Given the description of an element on the screen output the (x, y) to click on. 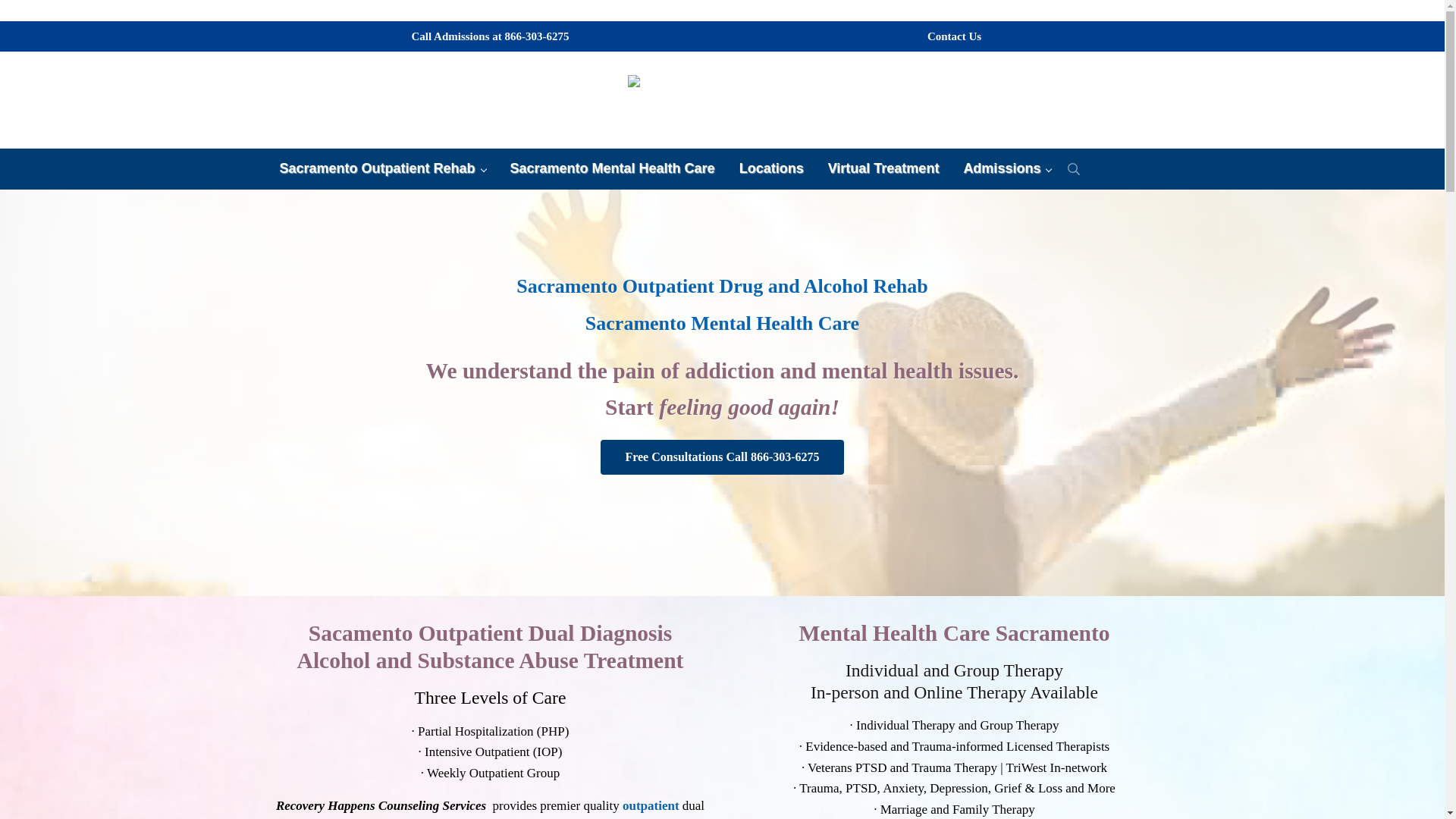
Virtual Treatment (883, 168)
Admissions (1006, 168)
Sacramento Mental Health Care (611, 168)
Sacramento Mental Health Care (722, 323)
Free Consultations Call 866-303-6275 (721, 457)
Sacramento Outpatient Rehab (381, 168)
Sacramento Outpatient Drug and Alcohol Rehab (721, 286)
Locations (770, 168)
outpatient (651, 805)
